Given the description of an element on the screen output the (x, y) to click on. 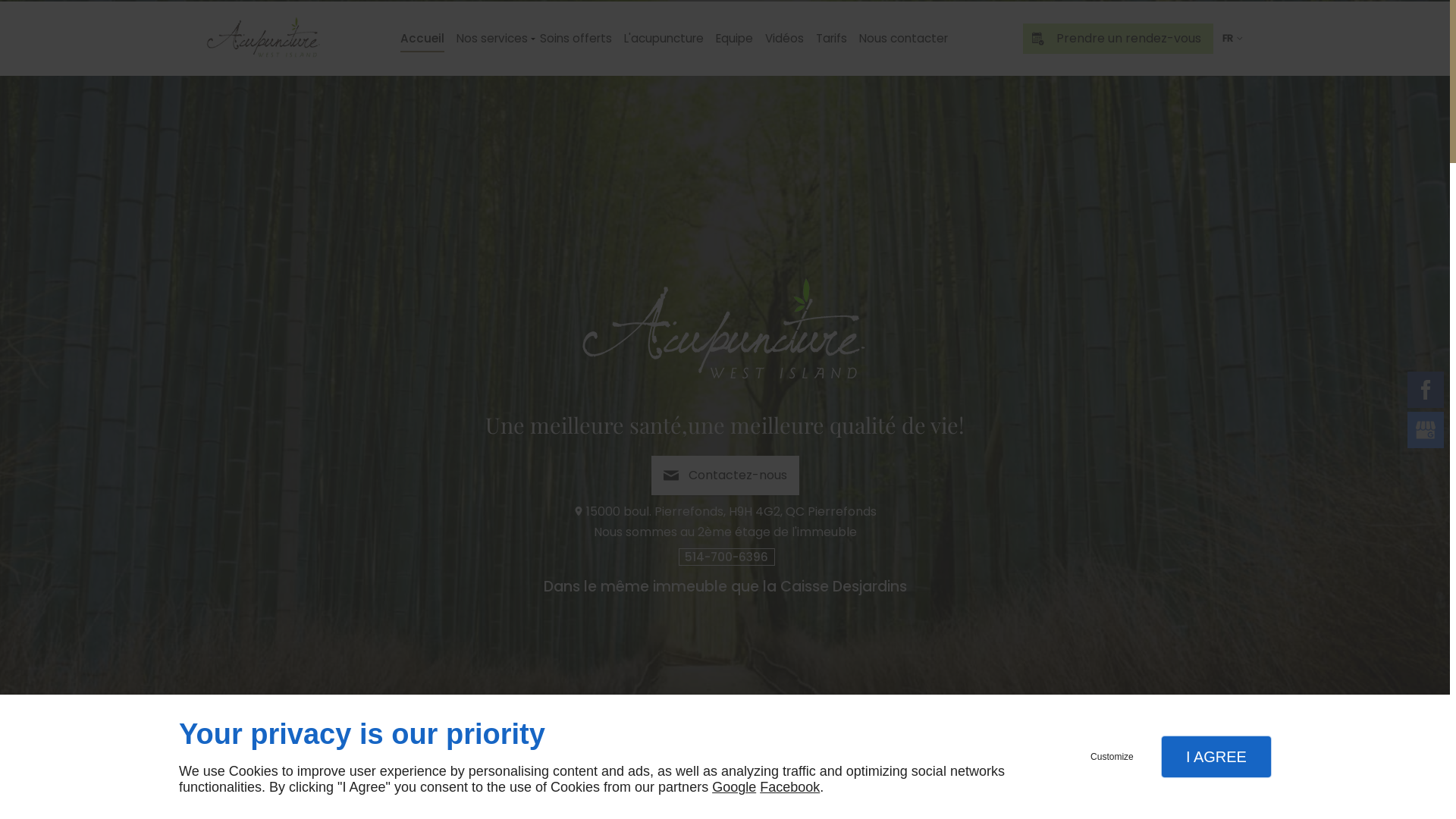
Contactez-nous Element type: text (724, 474)
Tarifs Element type: text (831, 38)
Prendre un rendez-vous Element type: text (1117, 38)
Facebook Element type: text (789, 786)
Nos services Element type: text (491, 38)
Soins offerts Element type: text (575, 38)
Accueil Element type: text (422, 38)
Google Element type: text (734, 786)
Facebook Element type: hover (1425, 389)
Mybusiness Element type: hover (1425, 429)
Equipe Element type: text (734, 38)
514-700-6396 Element type: text (726, 556)
FR Element type: text (1231, 38)
L'acupuncture Element type: text (662, 38)
Nous contacter Element type: text (902, 38)
